Given the description of an element on the screen output the (x, y) to click on. 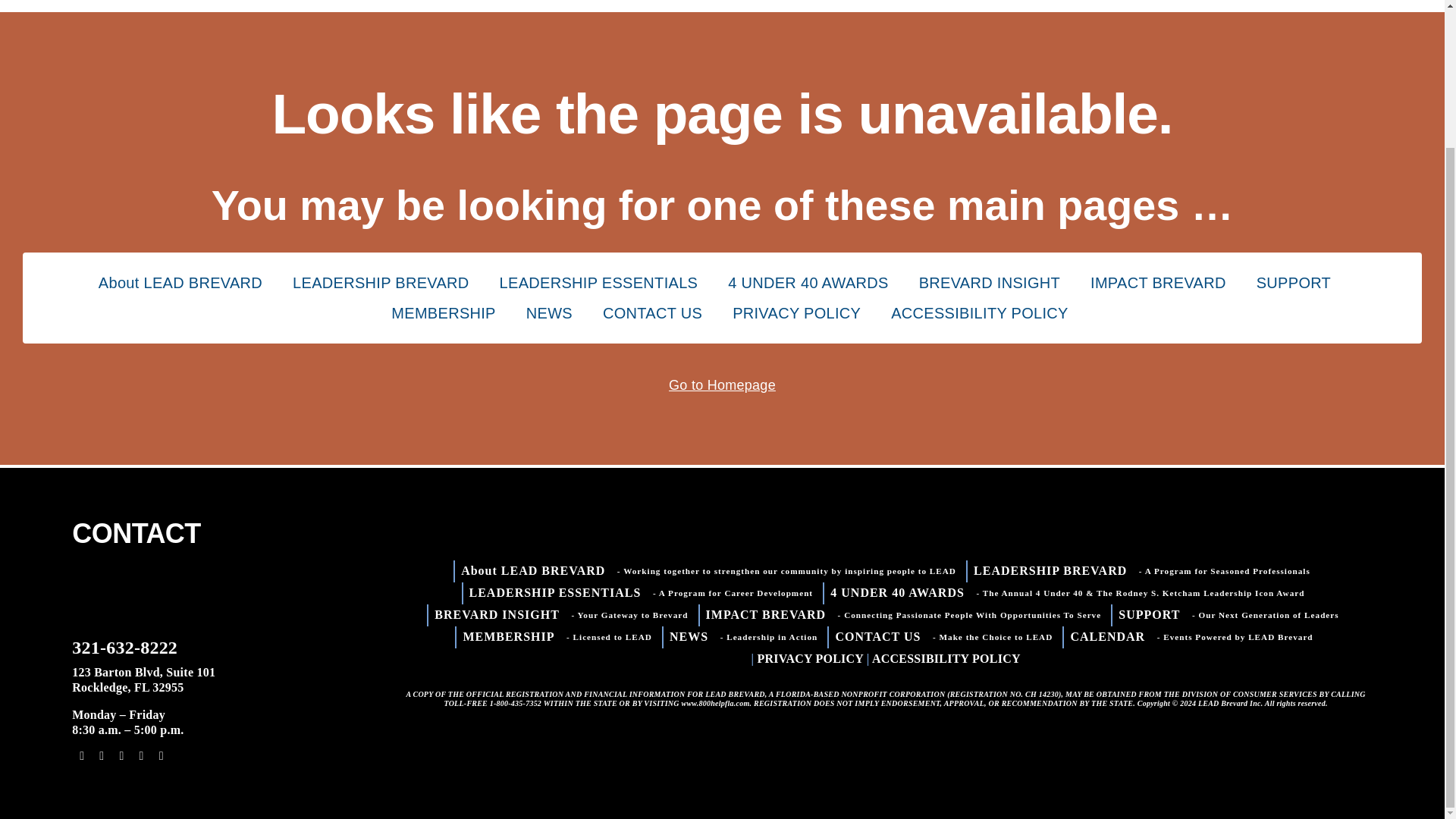
LEAD-BREVARD-reversed-Logo (147, 593)
